Given the description of an element on the screen output the (x, y) to click on. 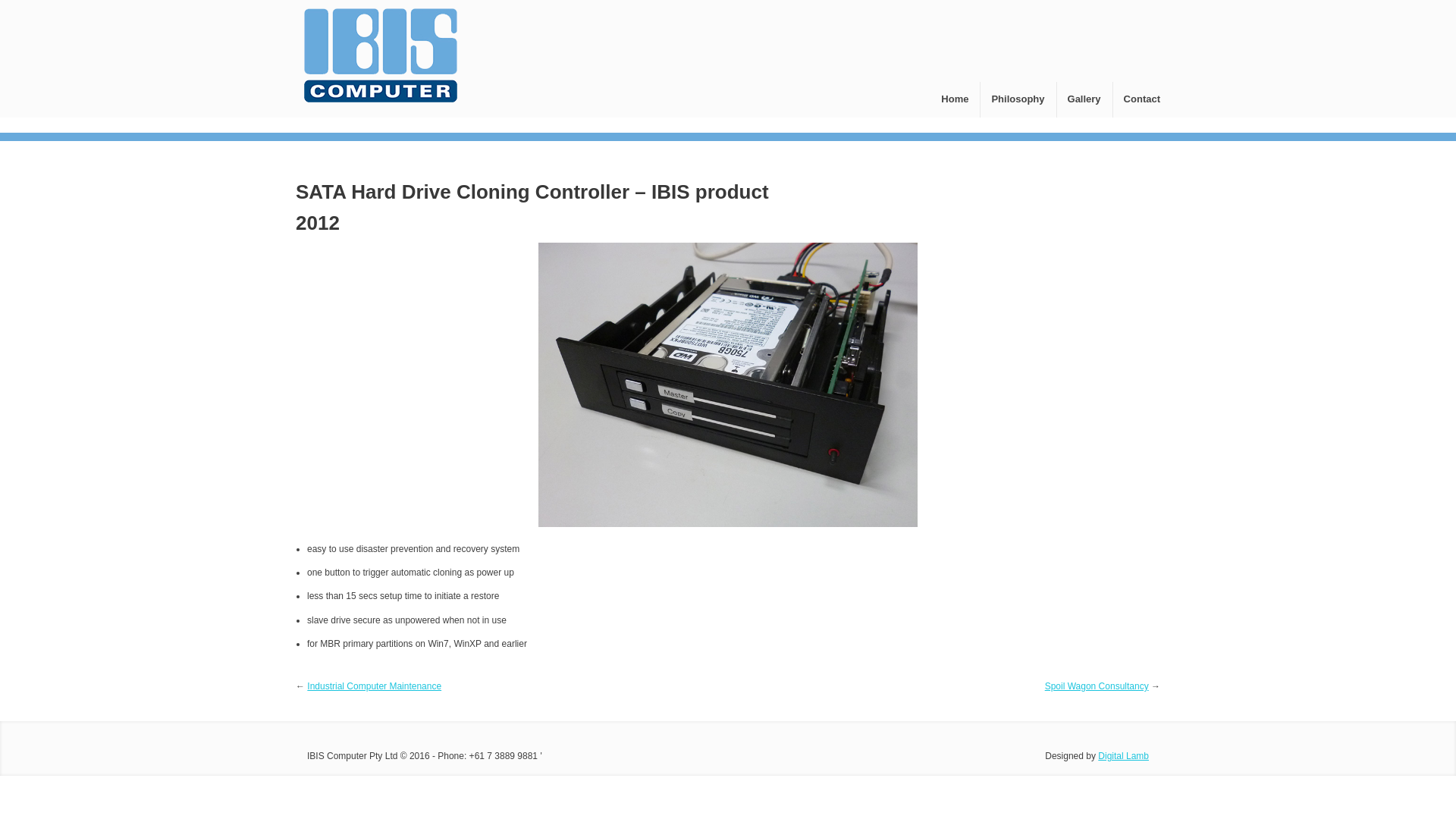
Spoil Wagon Consultancy Element type: text (1096, 685)
Contact Element type: text (1136, 99)
Gallery Element type: text (1084, 99)
Digital Lamb Element type: text (1123, 755)
Philosophy Element type: text (1017, 99)
Home Element type: text (954, 99)
Industrial Computer Maintenance Element type: text (374, 685)
